Given the description of an element on the screen output the (x, y) to click on. 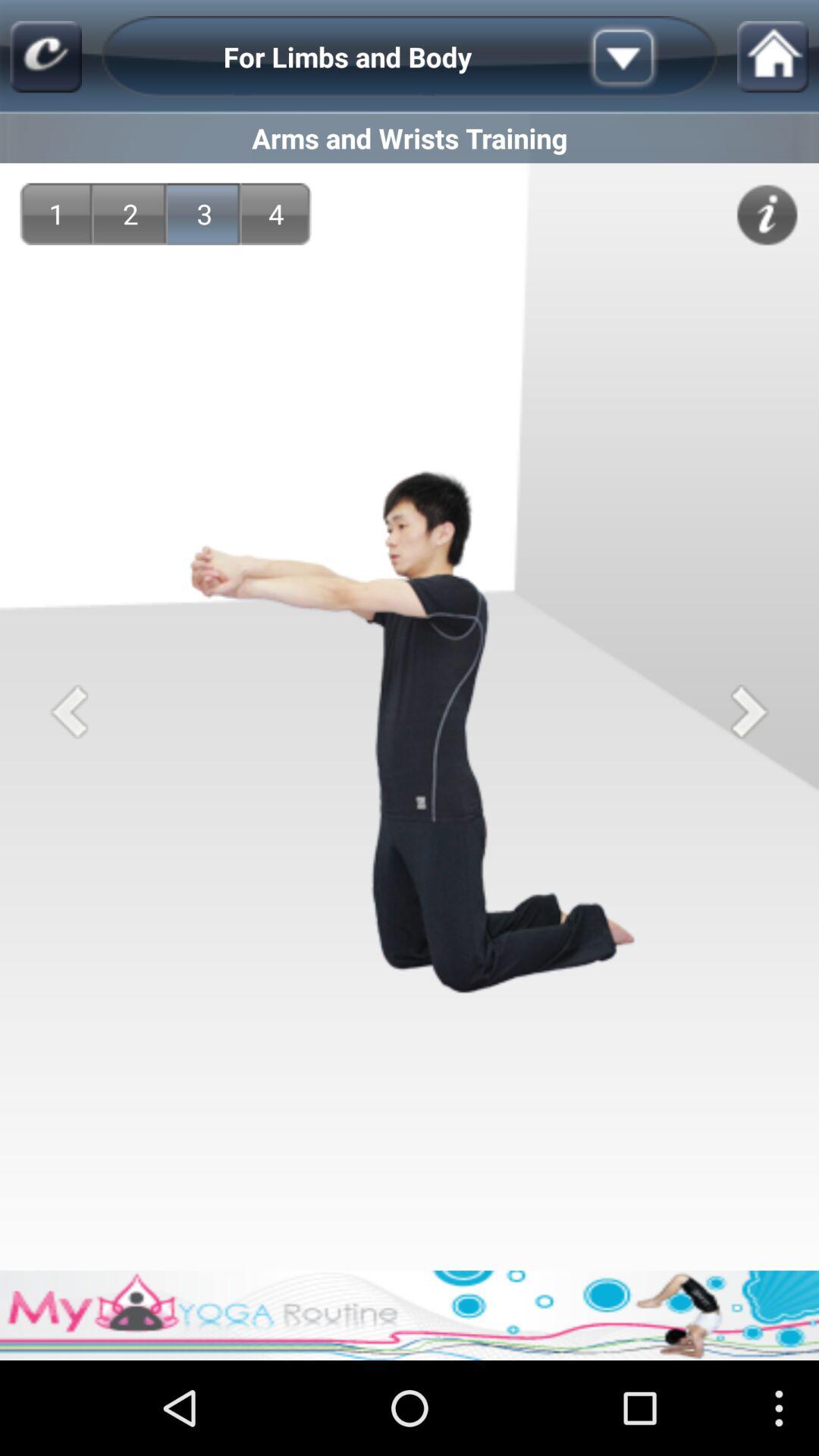
launch icon to the left of the for limbs and (45, 56)
